Given the description of an element on the screen output the (x, y) to click on. 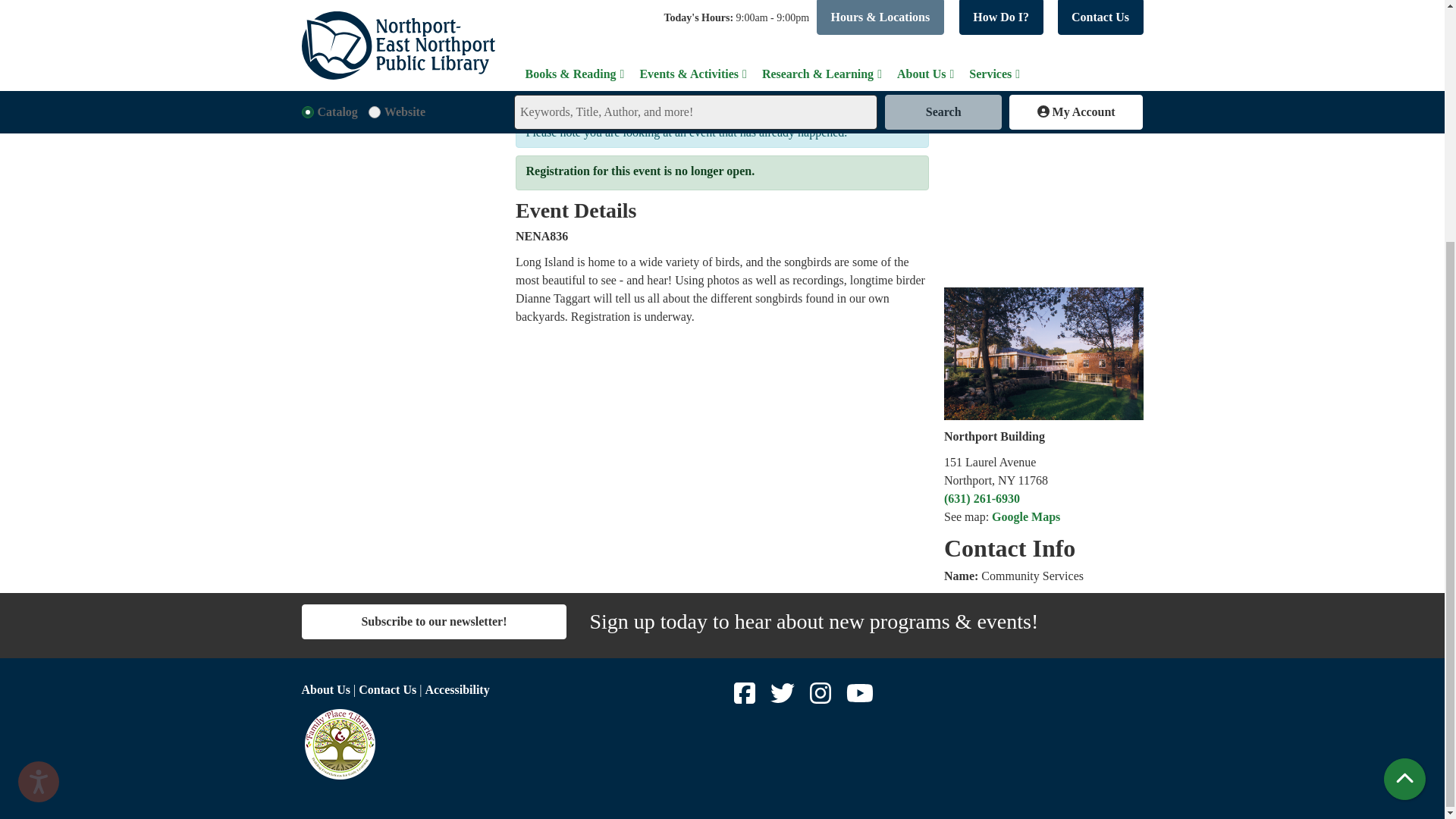
youtube (859, 697)
instagram (821, 697)
Family Place Libraries (506, 743)
Listen with the ReachDeck Toolbar (38, 446)
twitter (783, 697)
Family Place Libraries (339, 743)
Facebook (745, 697)
